Given the description of an element on the screen output the (x, y) to click on. 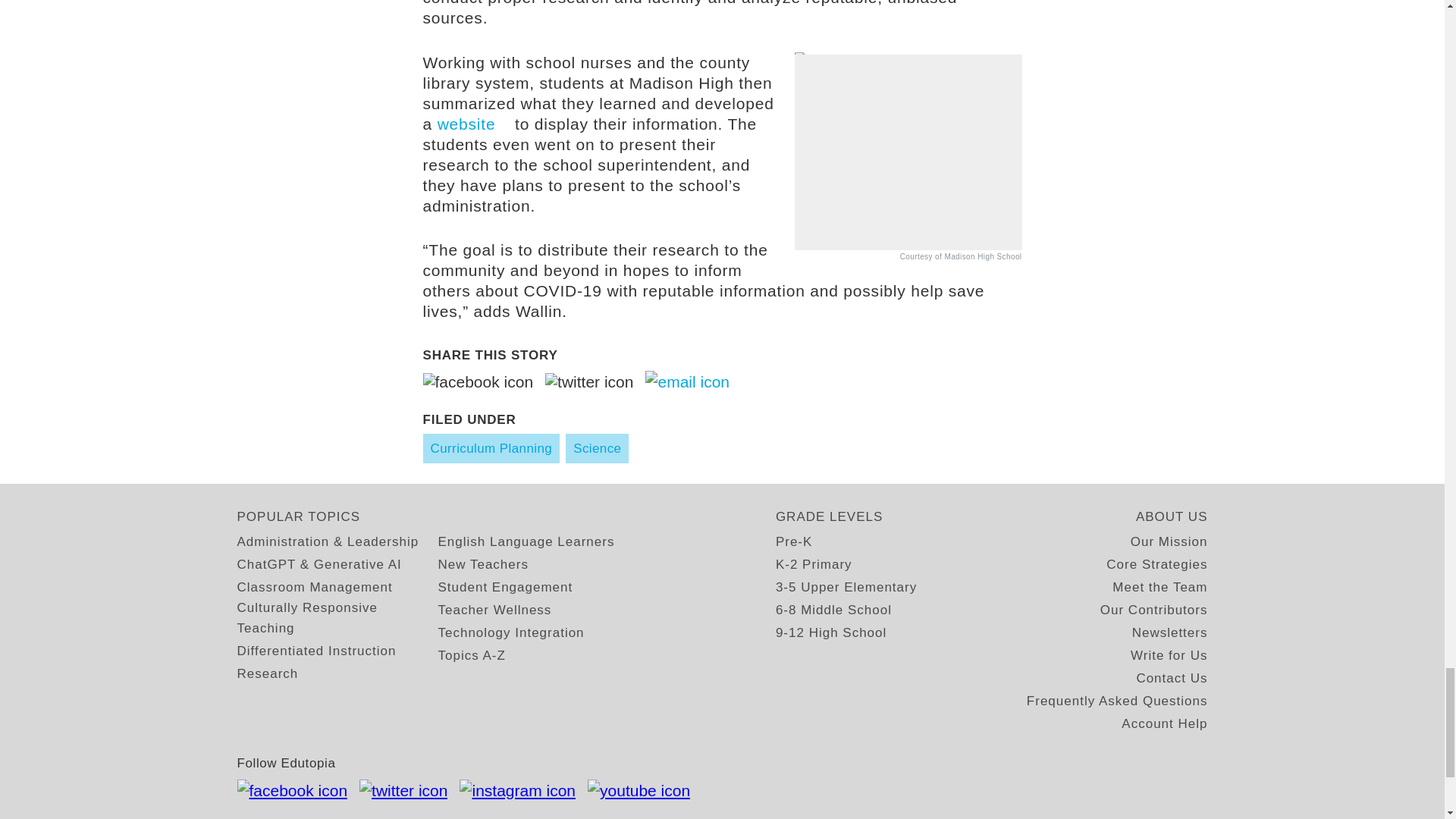
Curriculum Planning (491, 448)
Science (597, 448)
Culturally Responsive Teaching (336, 617)
Differentiated Instruction (315, 650)
Classroom Management (313, 587)
website (474, 123)
